Given the description of an element on the screen output the (x, y) to click on. 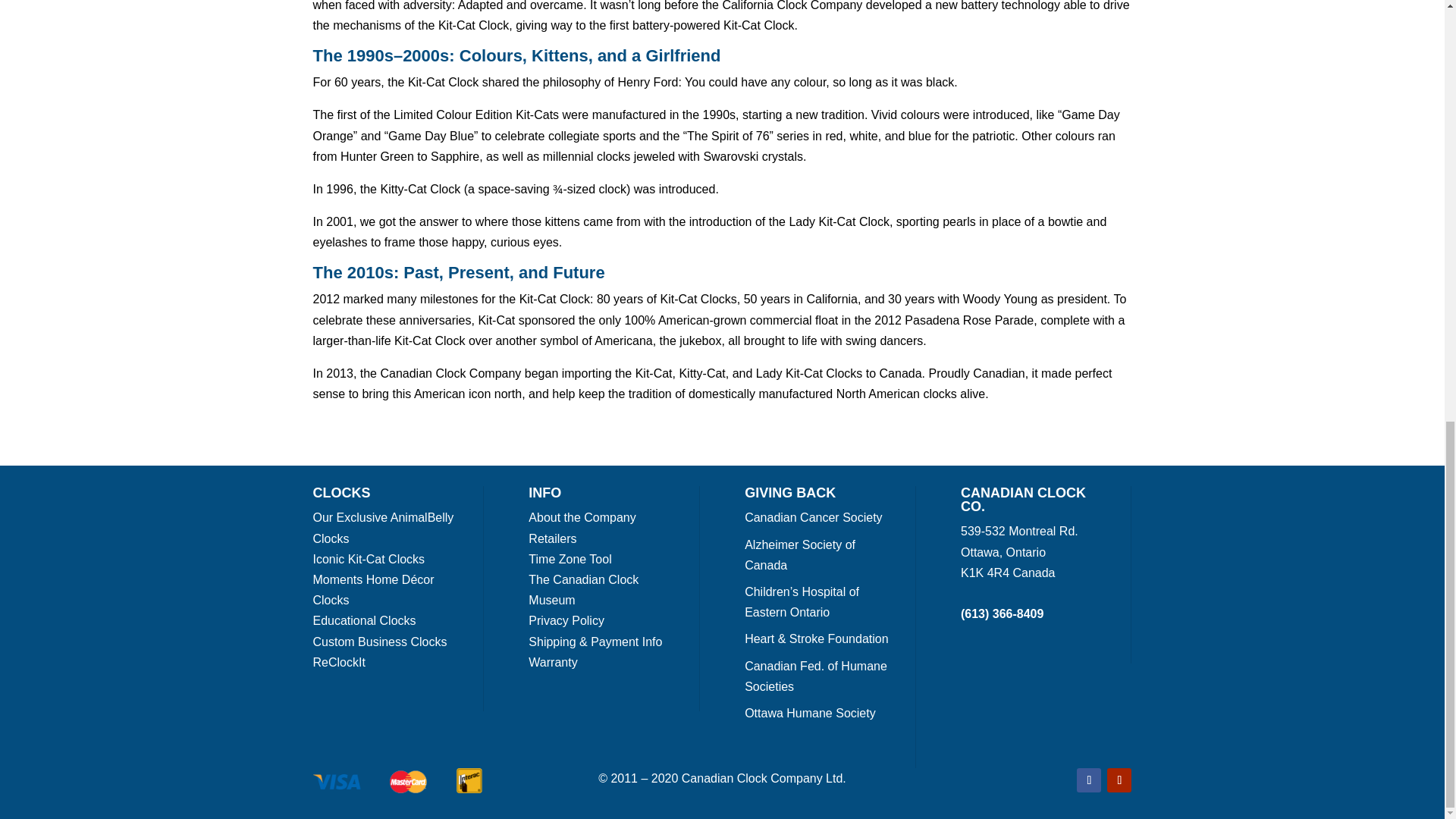
Follow on Youtube (1118, 780)
Follow on Facebook (1088, 780)
